Given the description of an element on the screen output the (x, y) to click on. 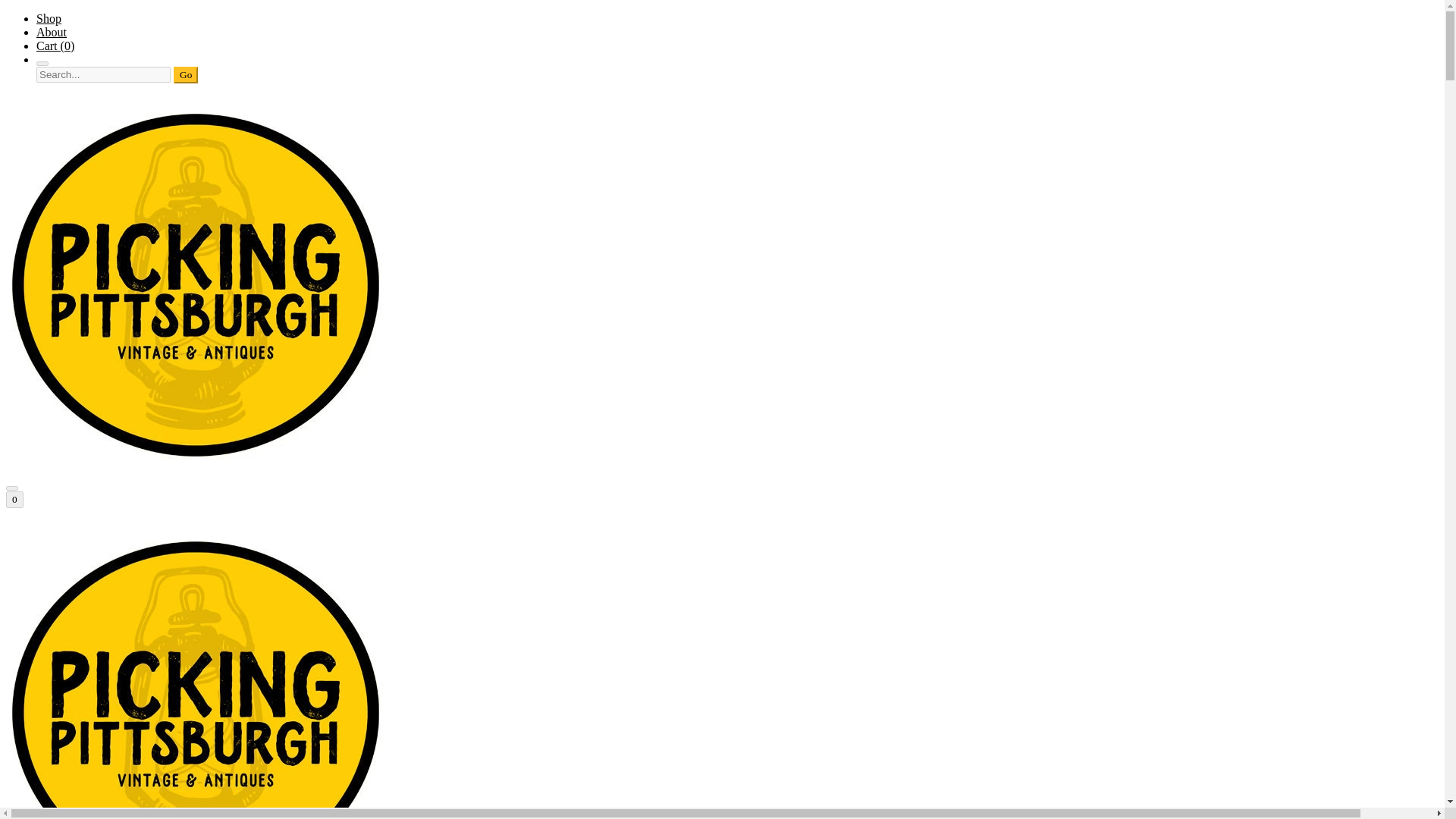
0 (14, 499)
Shop (48, 18)
Go (185, 74)
About (51, 31)
Go (185, 74)
